Given the description of an element on the screen output the (x, y) to click on. 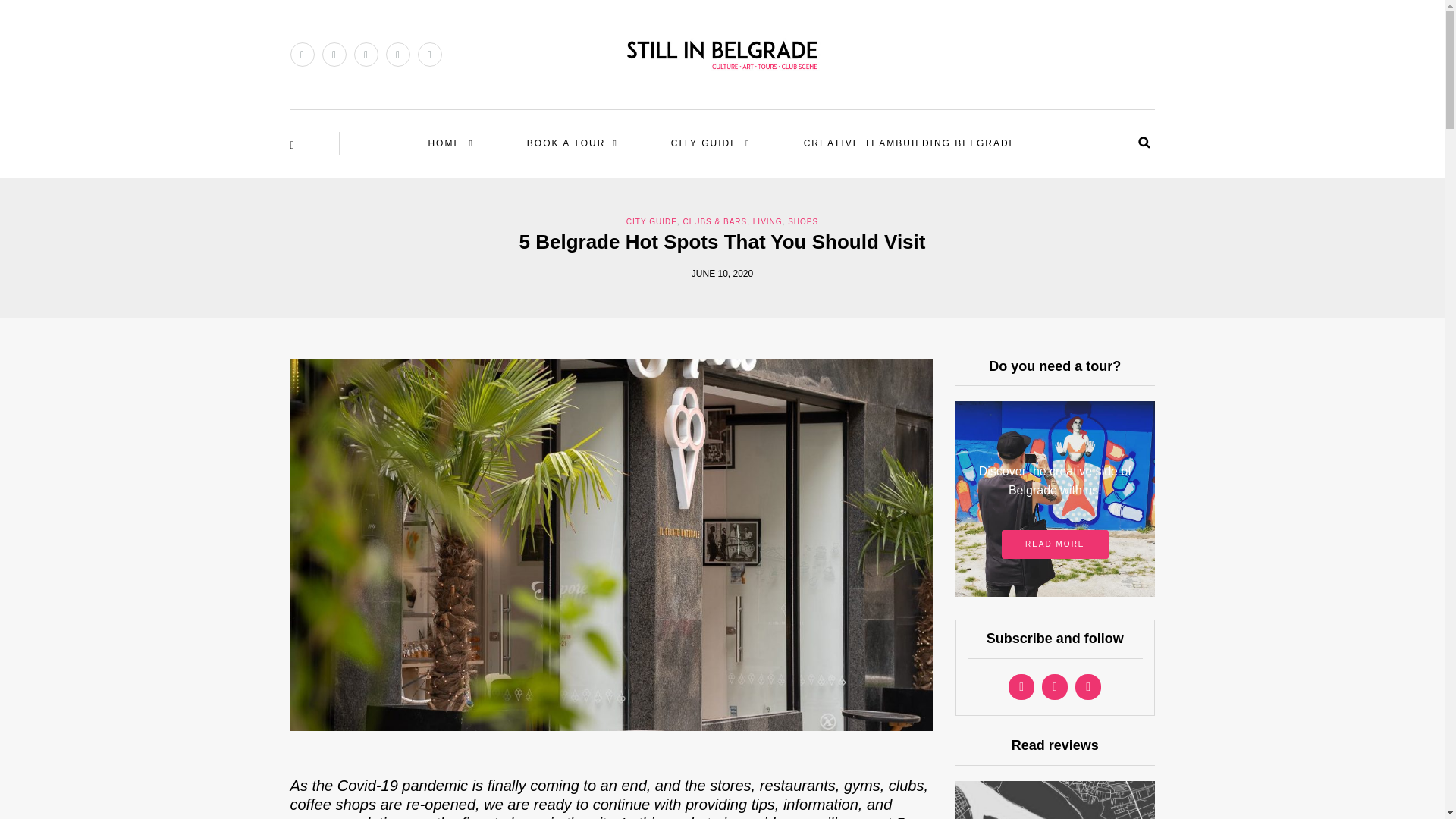
CITY GUIDE (710, 143)
HOME (450, 143)
BOOK A TOUR (571, 143)
